Given the description of an element on the screen output the (x, y) to click on. 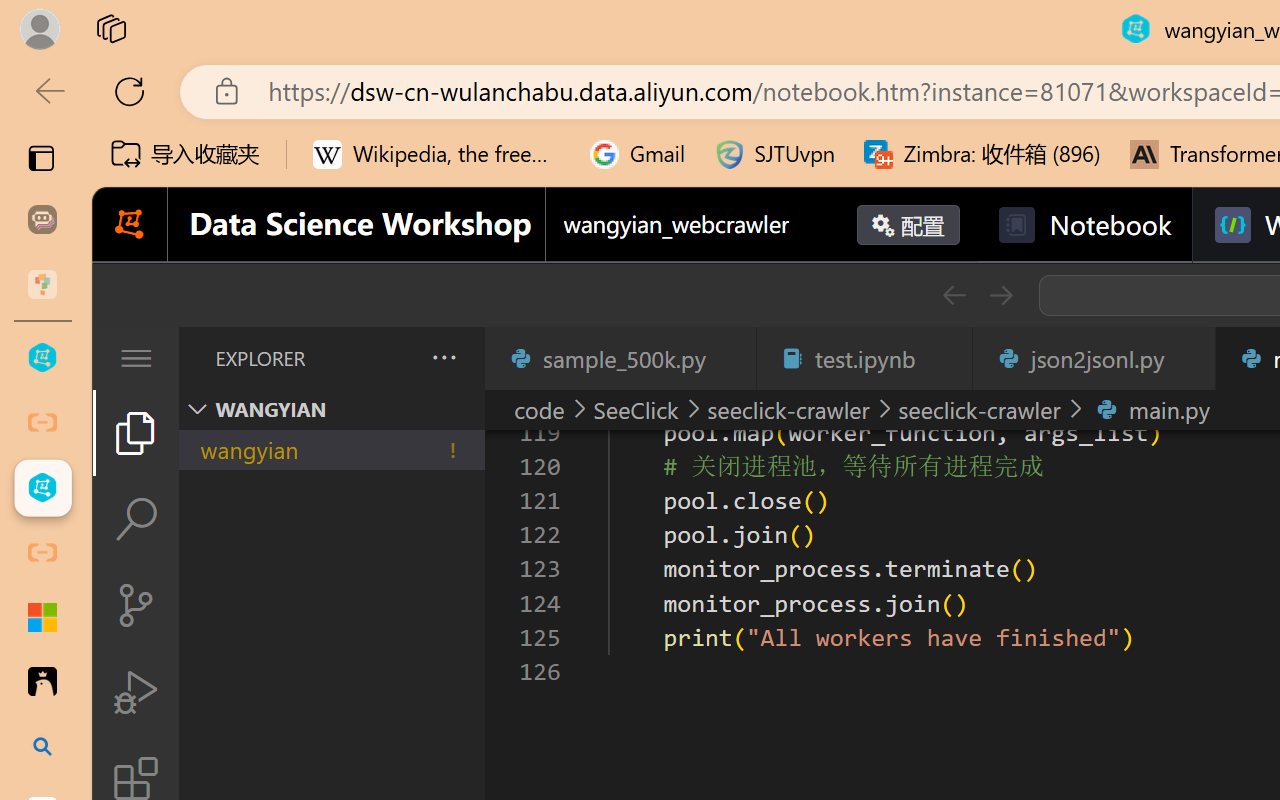
json2jsonl.py (1092, 358)
Views and More Actions... (442, 357)
wangyian_dsw - DSW (42, 357)
Go Back (Alt+LeftArrow) (953, 295)
